Given the description of an element on the screen output the (x, y) to click on. 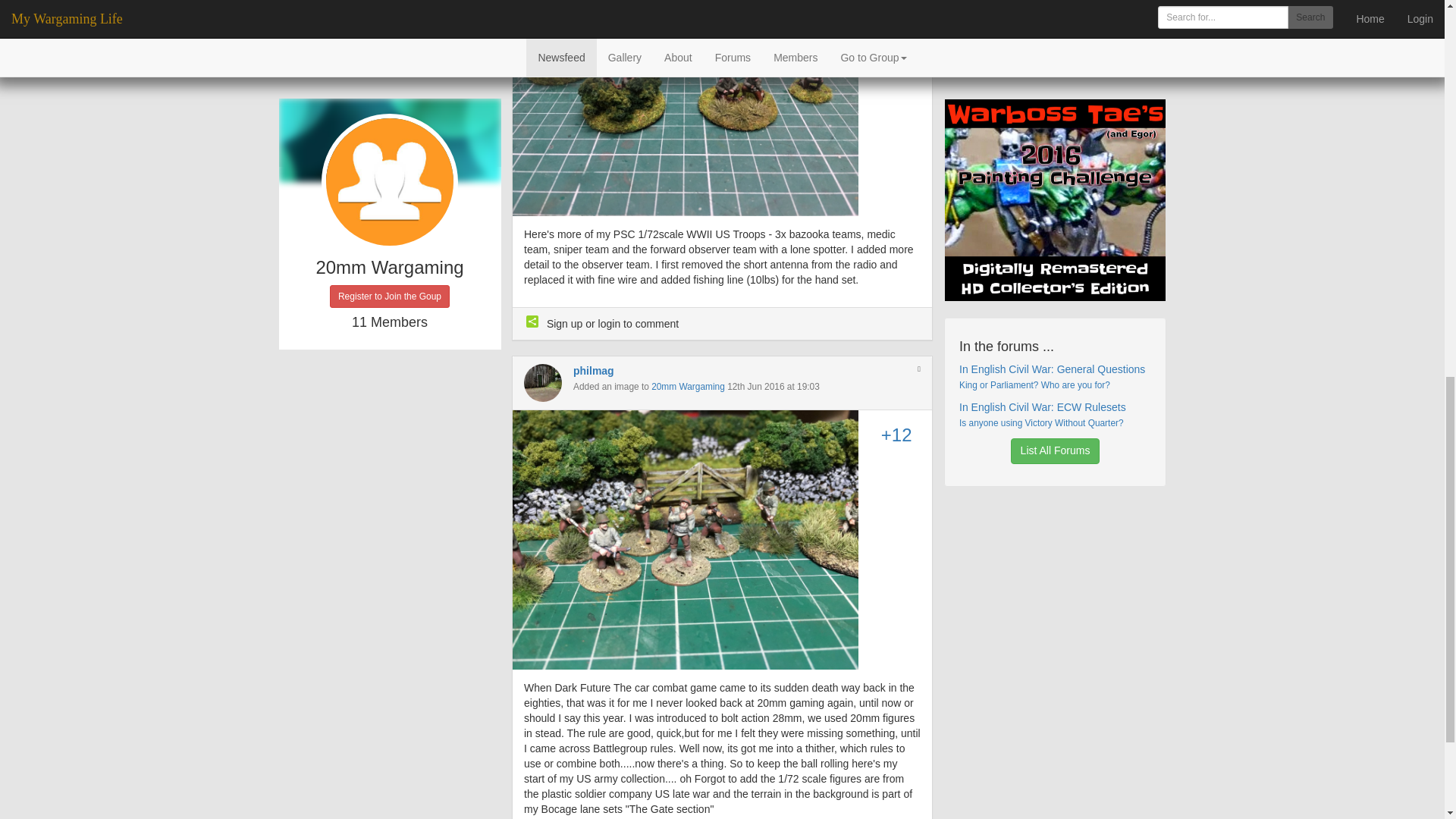
philmag (593, 370)
20mm Wargaming (687, 386)
